Given the description of an element on the screen output the (x, y) to click on. 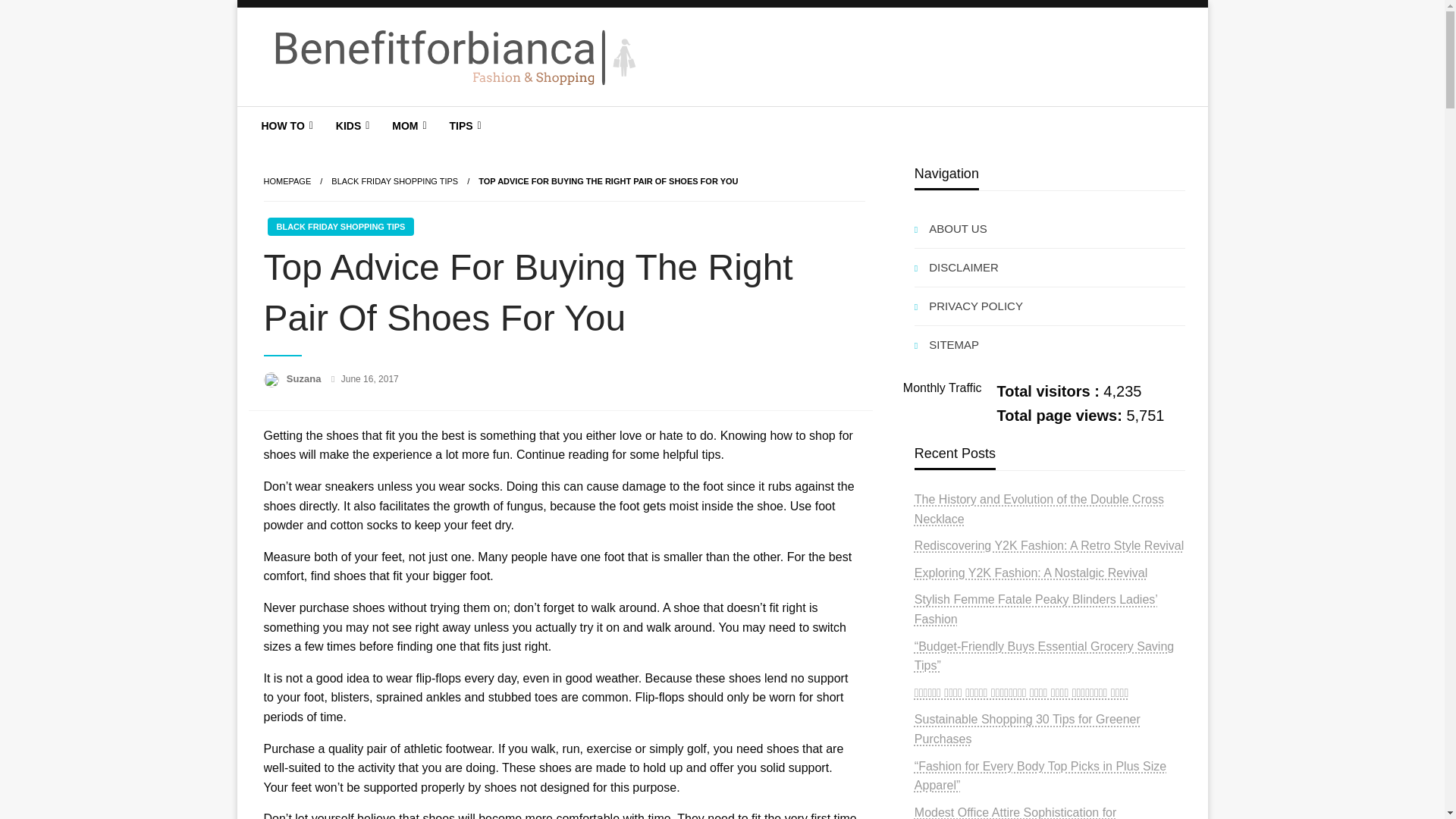
June 16, 2017 (369, 378)
BLACK FRIDAY SHOPPING TIPS (394, 180)
black friday shopping tips (394, 180)
BLACK FRIDAY SHOPPING TIPS (339, 226)
BenefitforBianca (374, 118)
Suzana (304, 378)
TIPS (462, 125)
HOW TO (285, 125)
MOM (406, 125)
Suzana (304, 378)
Homepage (287, 180)
KIDS (350, 125)
Top Advice For Buying The Right Pair Of Shoes For You (608, 180)
HOMEPAGE (287, 180)
